Given the description of an element on the screen output the (x, y) to click on. 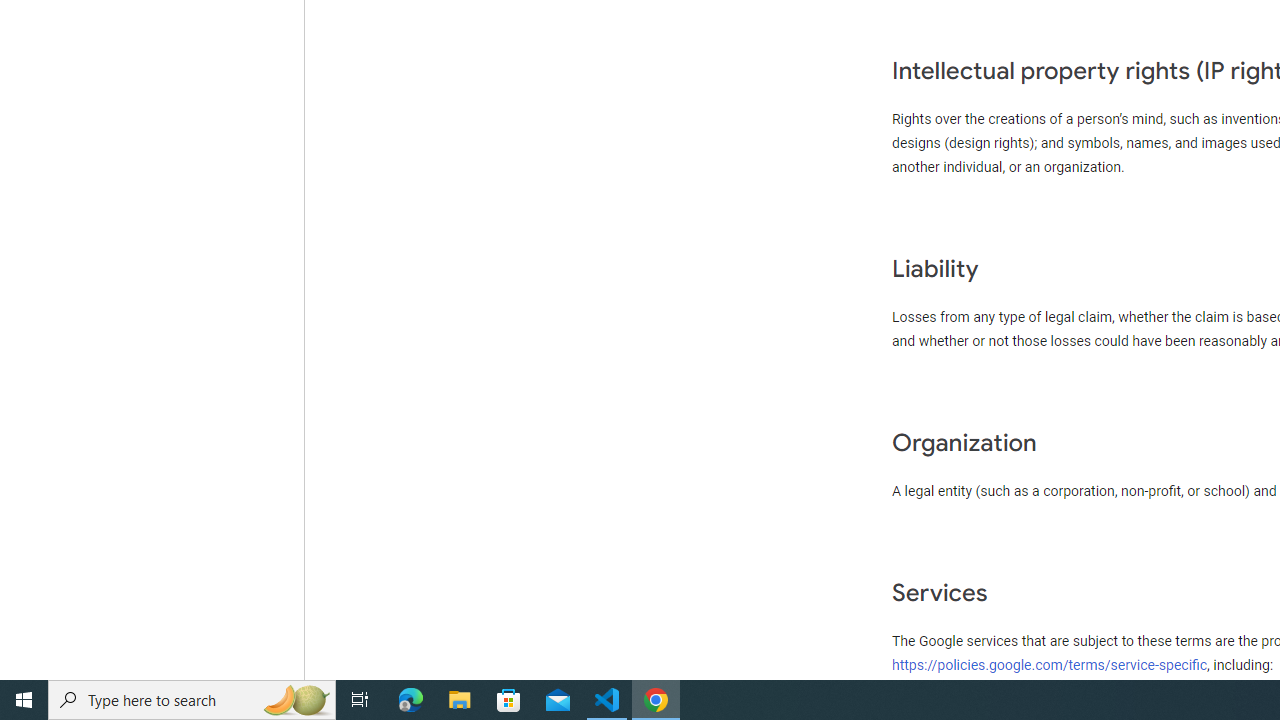
https://policies.google.com/terms/service-specific (1050, 664)
